Given the description of an element on the screen output the (x, y) to click on. 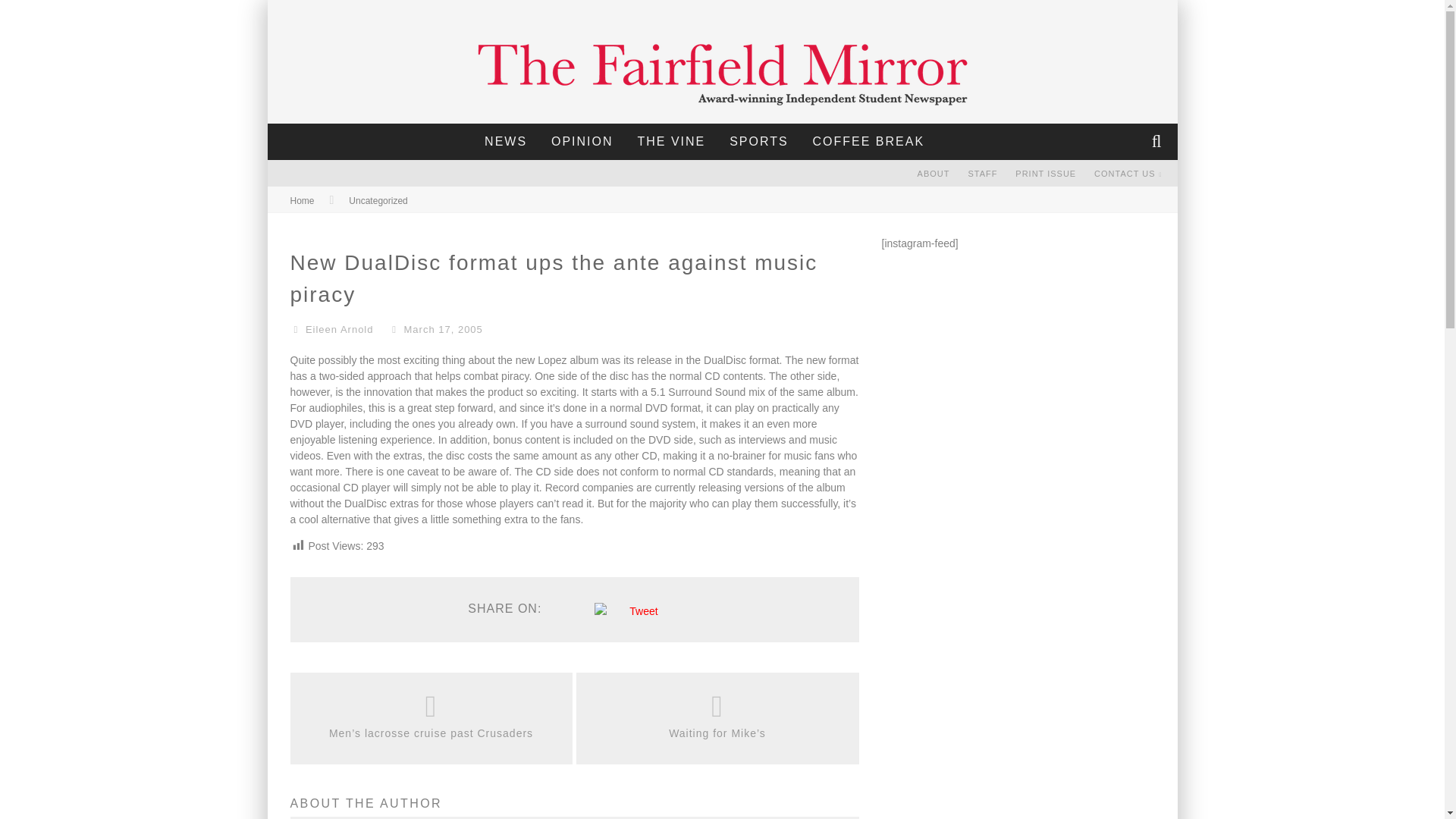
View all posts in Uncategorized (378, 200)
NEWS (505, 141)
Search (1158, 141)
OPINION (582, 141)
